Given the description of an element on the screen output the (x, y) to click on. 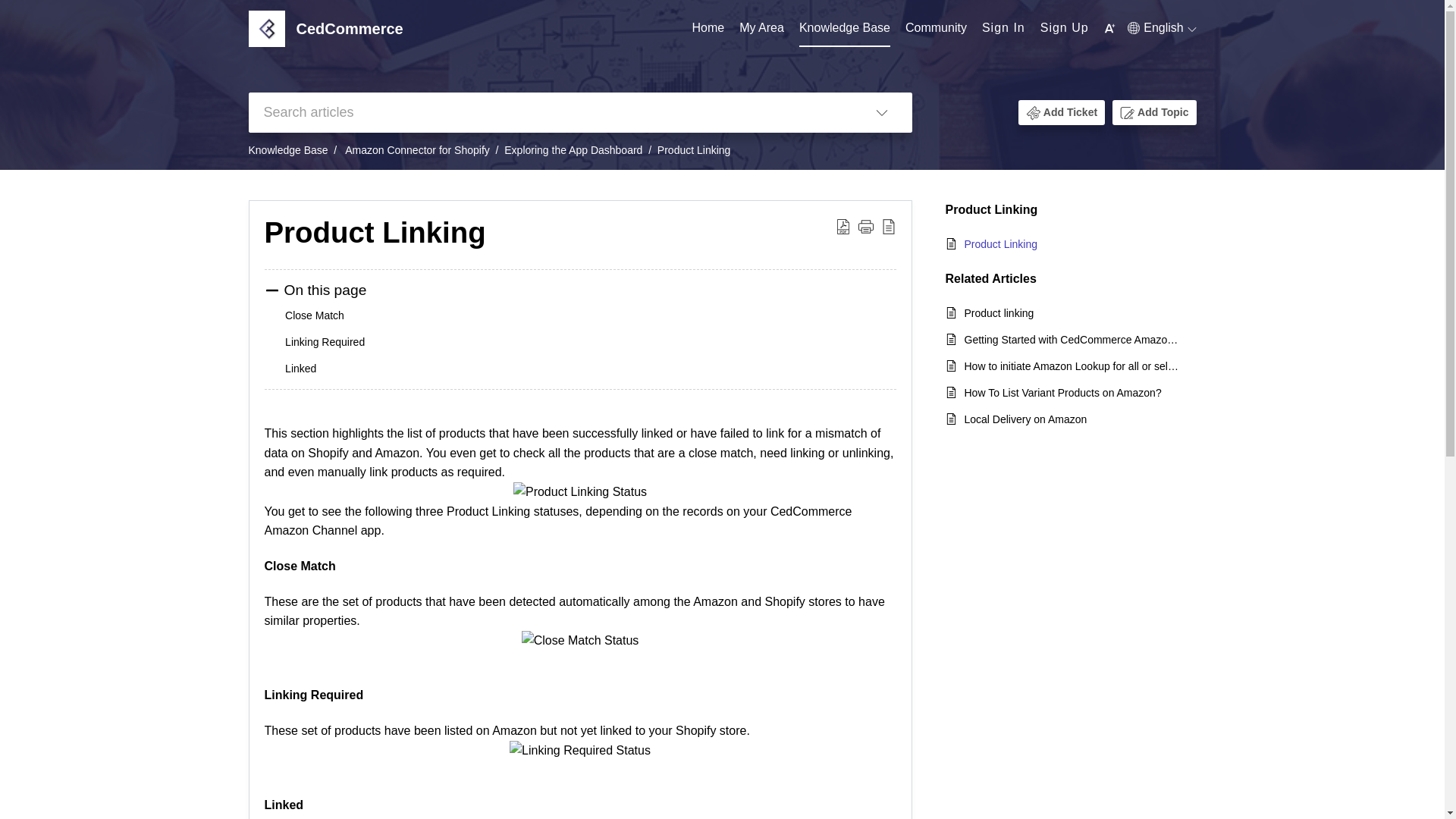
Close Match (314, 315)
Community (935, 28)
Home (709, 28)
Knowledge Base (844, 28)
Exploring the App Dashboard (572, 150)
Sign Up (1065, 27)
Add Ticket (1070, 112)
How to initiate Amazon Lookup for all or selected products? (1071, 365)
Community (935, 27)
Add Topic (1162, 112)
